Given the description of an element on the screen output the (x, y) to click on. 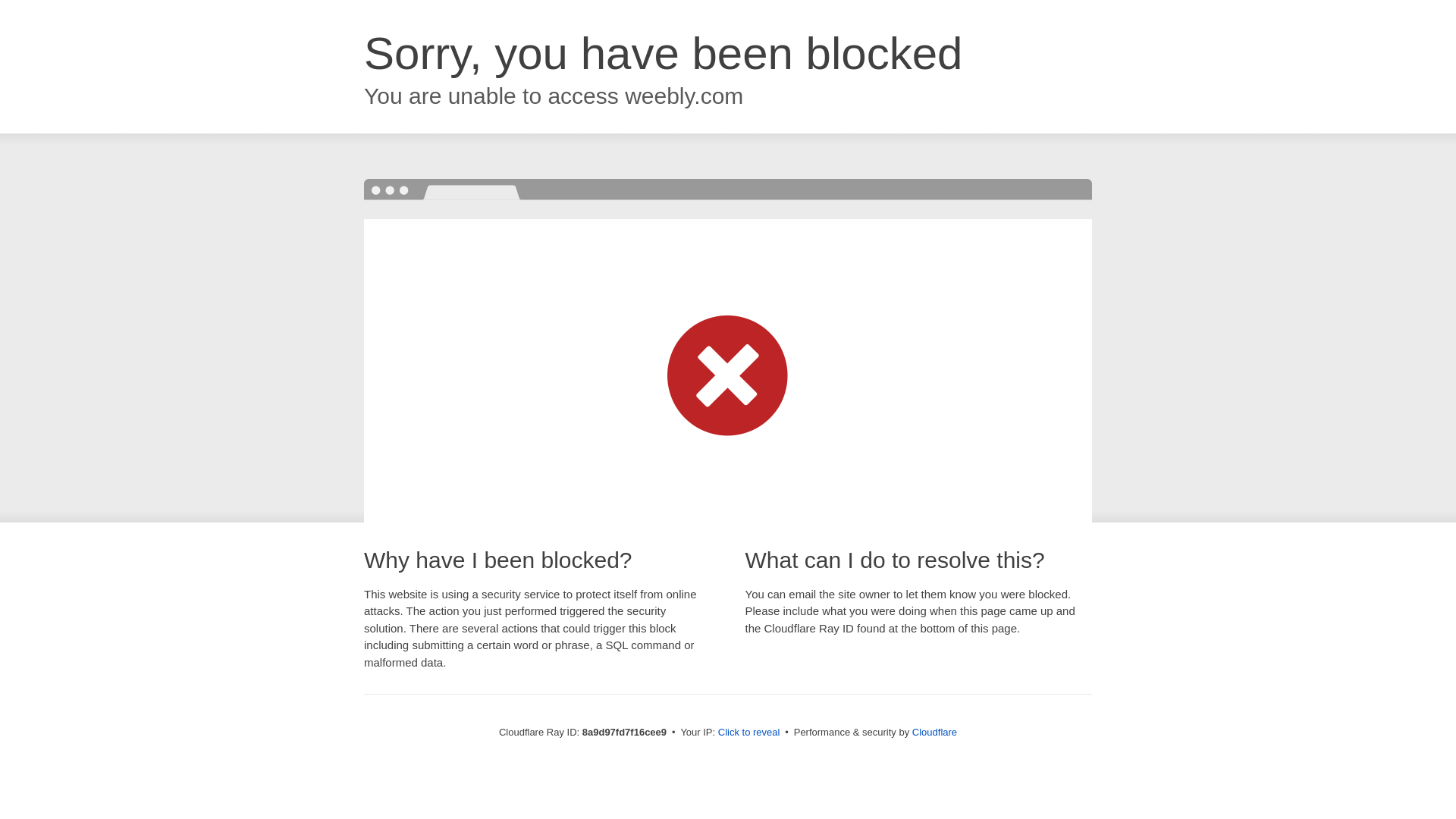
Click to reveal (748, 732)
Cloudflare (934, 731)
